Given the description of an element on the screen output the (x, y) to click on. 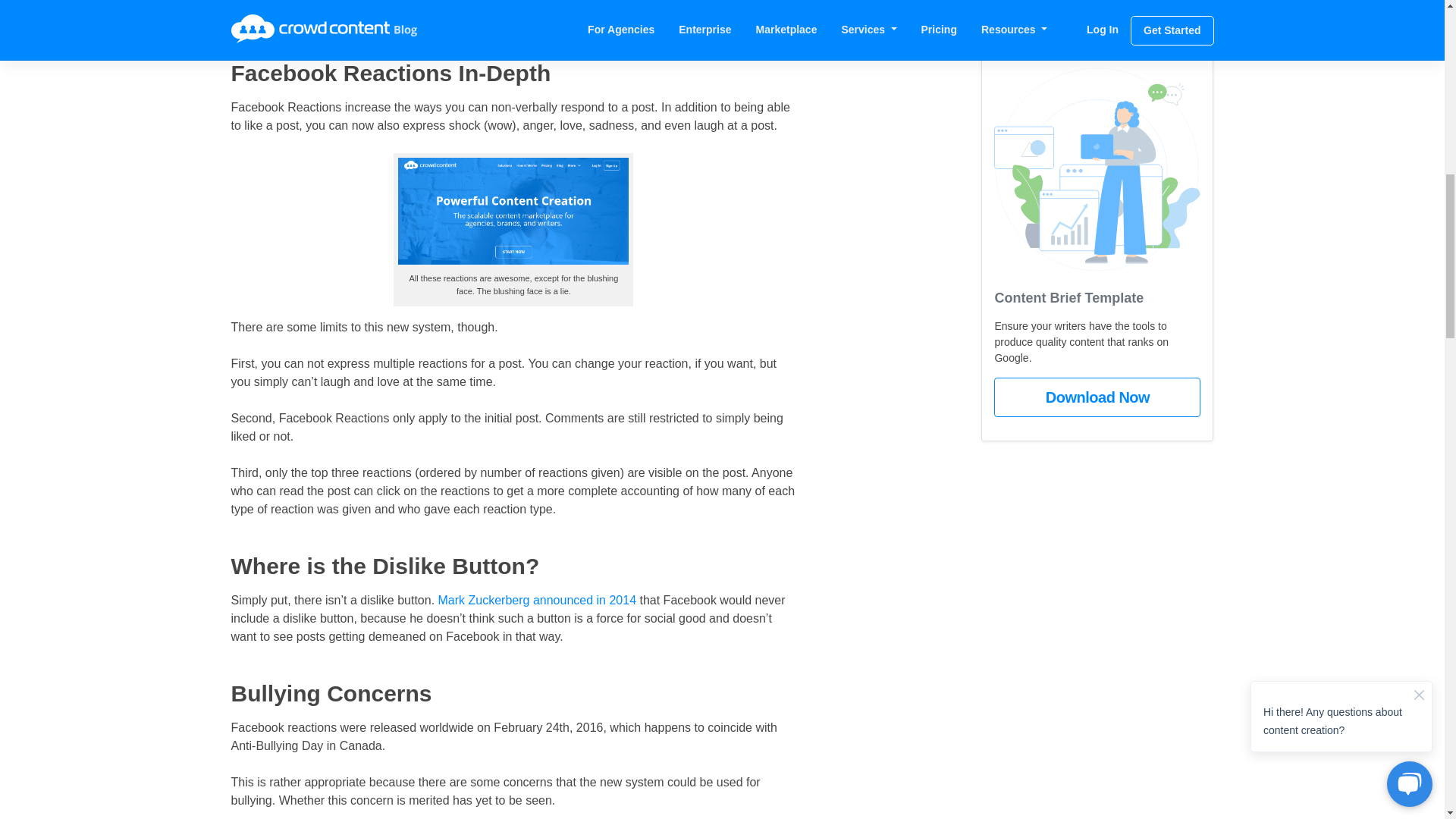
Mark Zuckerberg announced in 2014 (537, 599)
